Given the description of an element on the screen output the (x, y) to click on. 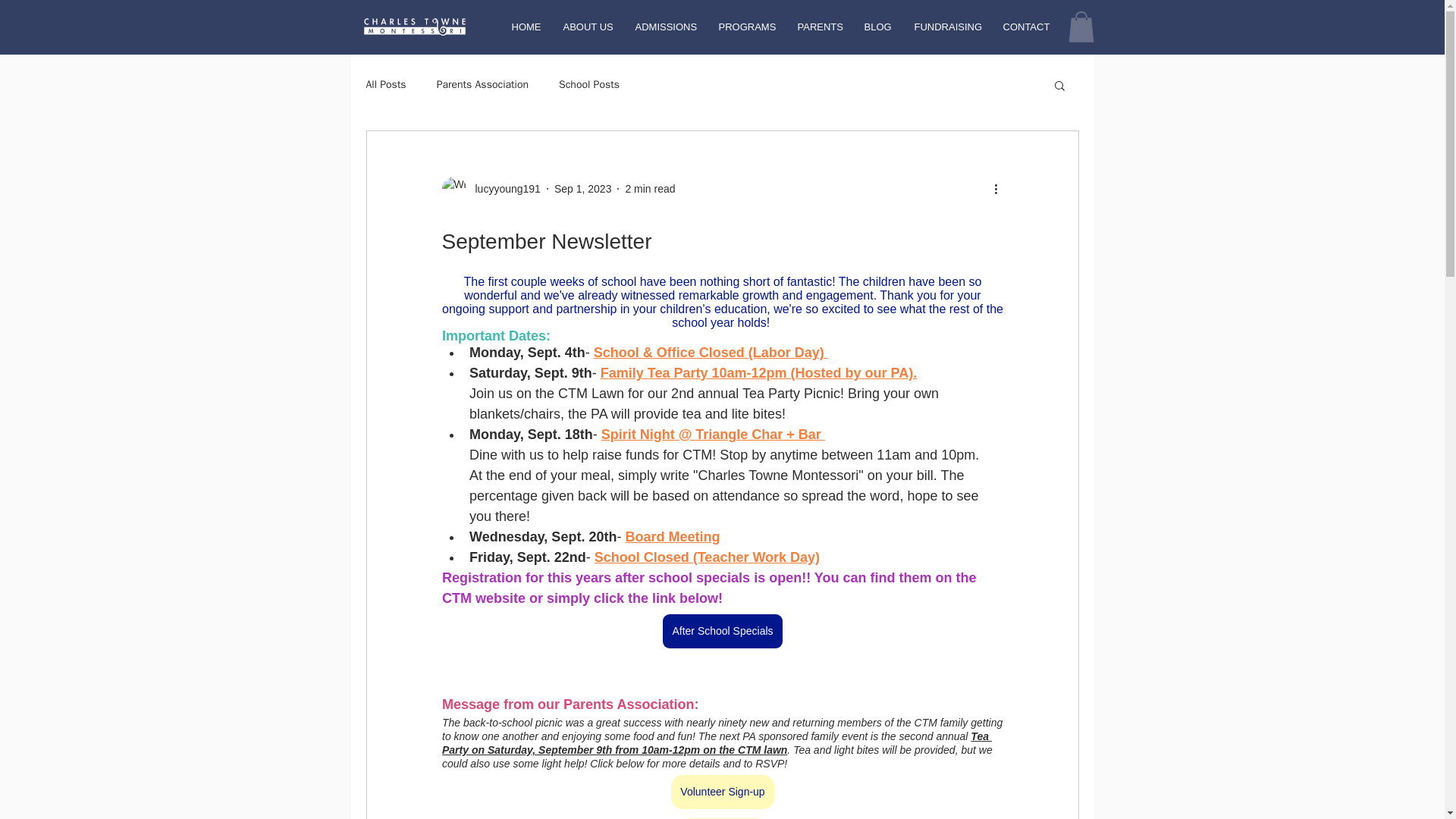
FUNDRAISING (946, 26)
CONTACT (1024, 26)
HOME (525, 26)
ABOUT US (587, 26)
PARENTS (818, 26)
PROGRAMS (746, 26)
lucyyoung191 (502, 188)
Sep 1, 2023 (582, 187)
ADMISSIONS (664, 26)
2 min read (649, 187)
